Given the description of an element on the screen output the (x, y) to click on. 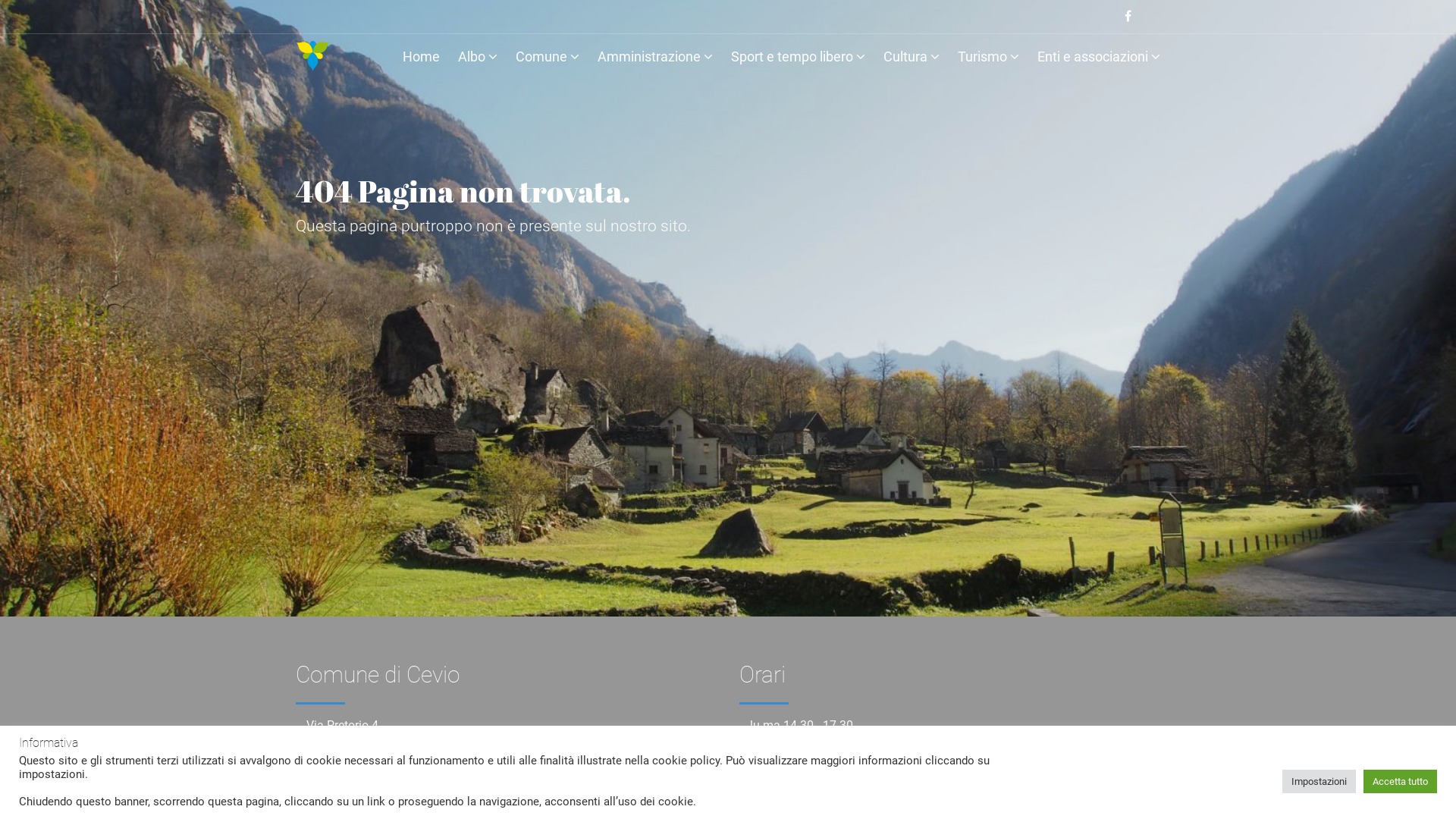
Sport e tempo libero Element type: text (798, 59)
Cultura Element type: text (911, 59)
Impostazioni Element type: text (1318, 780)
Enti e associazioni Element type: text (1098, 59)
Albo Element type: text (477, 59)
Amministrazione Element type: text (654, 59)
Comune Element type: text (547, 59)
Home Element type: text (420, 59)
Turismo Element type: text (988, 59)
Accetta tutto Element type: text (1400, 780)
